Given the description of an element on the screen output the (x, y) to click on. 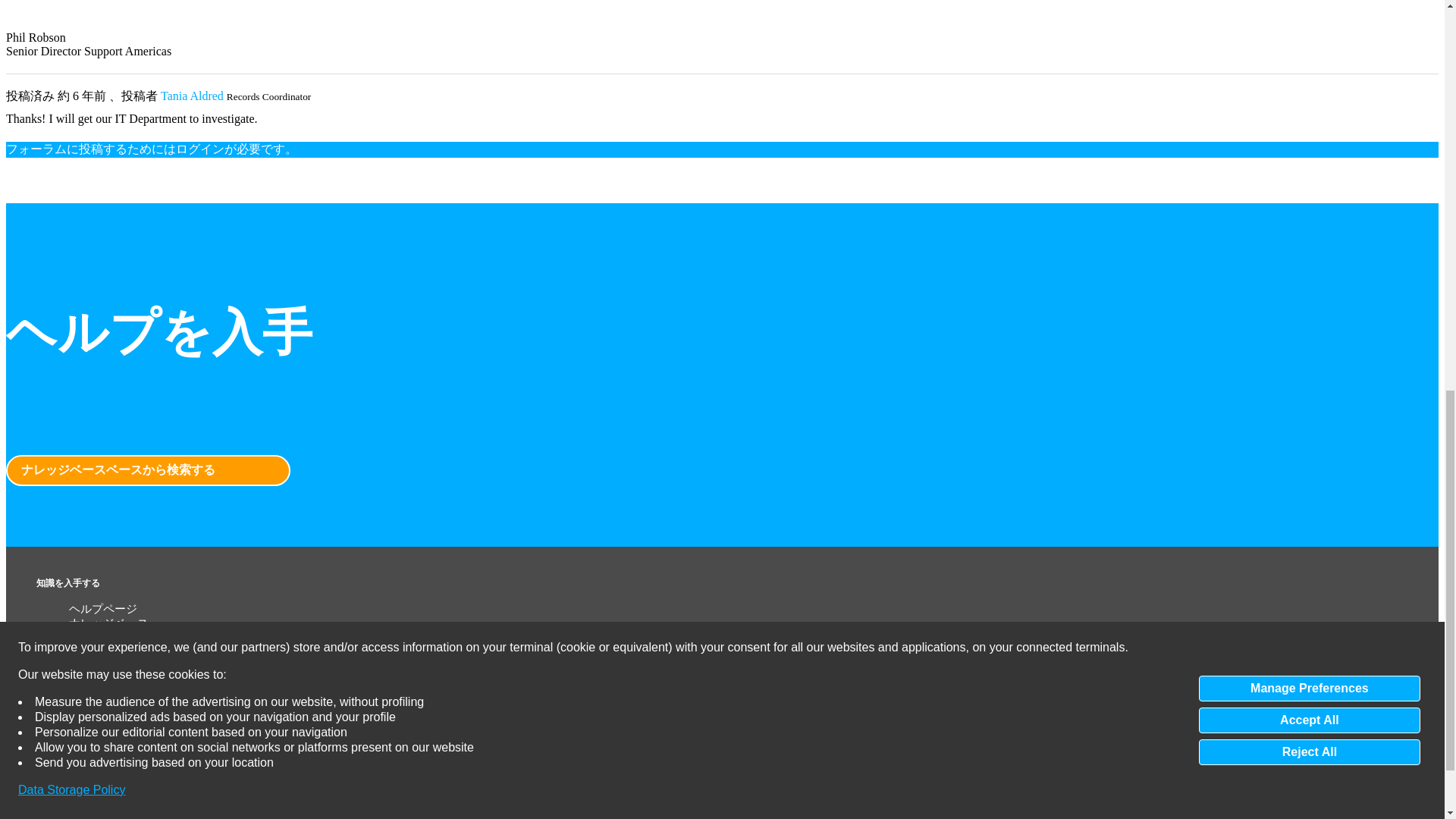
Tania Aldred (192, 95)
